Given the description of an element on the screen output the (x, y) to click on. 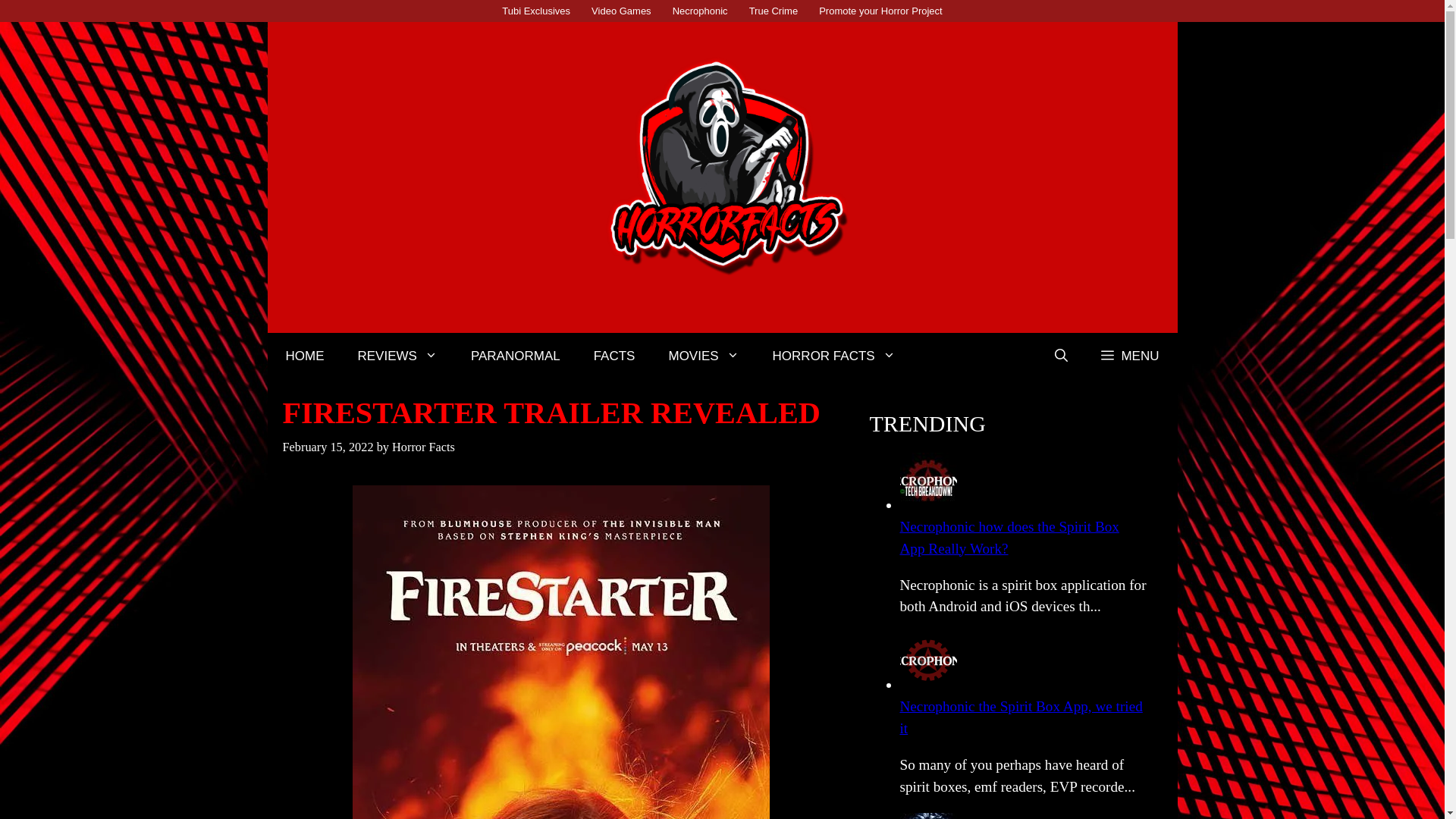
MOVIES (702, 356)
HOME (303, 356)
Tubi Exclusives (536, 11)
Necrophonic (700, 11)
True Crime (773, 11)
Promote your Horror Project (880, 11)
REVIEWS (397, 356)
PARANORMAL (515, 356)
View all posts by Horror Facts (422, 446)
FACTS (614, 356)
